Given the description of an element on the screen output the (x, y) to click on. 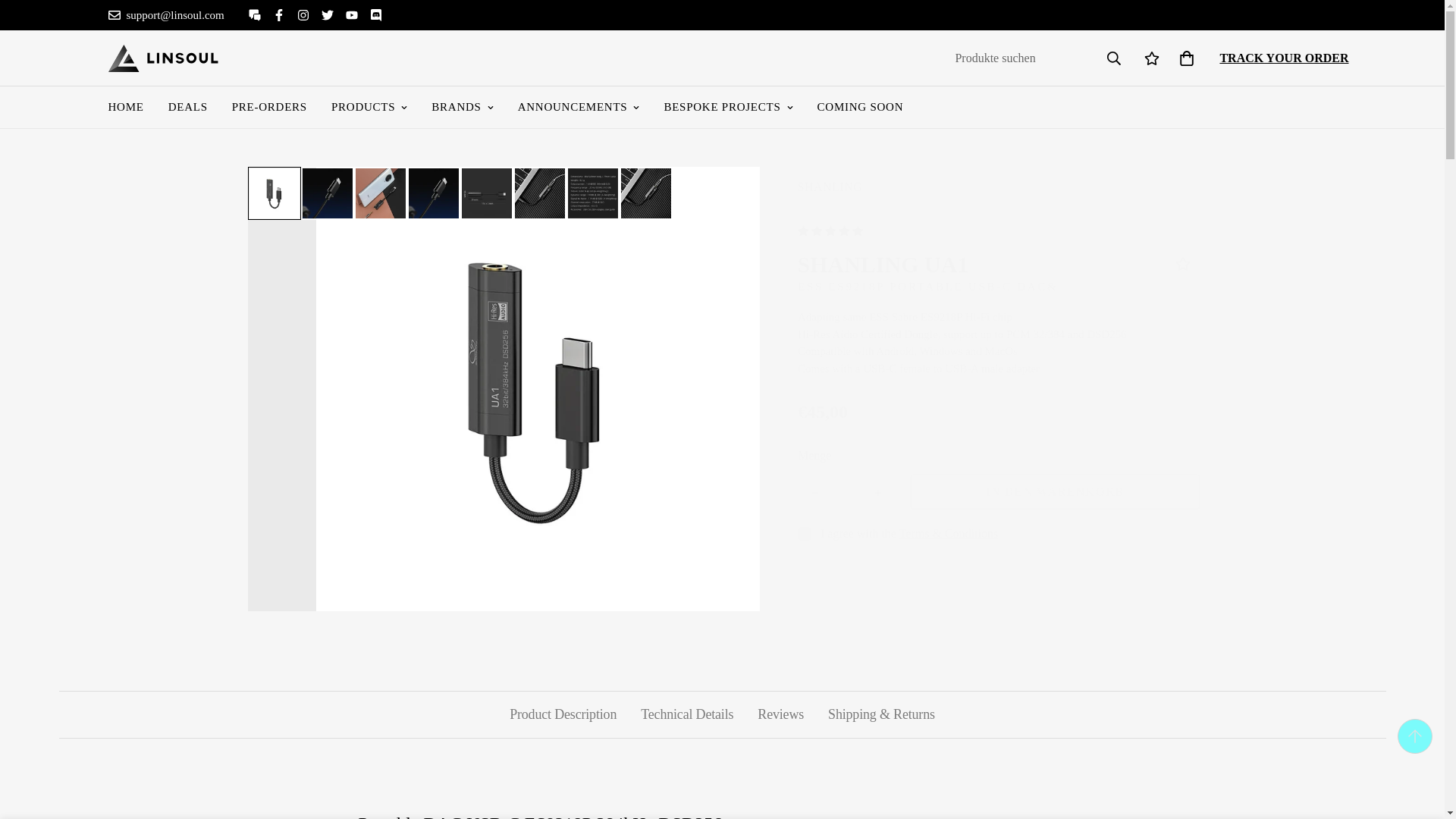
1 (846, 491)
yes (803, 533)
Linsoul-DE (161, 57)
Shanling (830, 186)
